Given the description of an element on the screen output the (x, y) to click on. 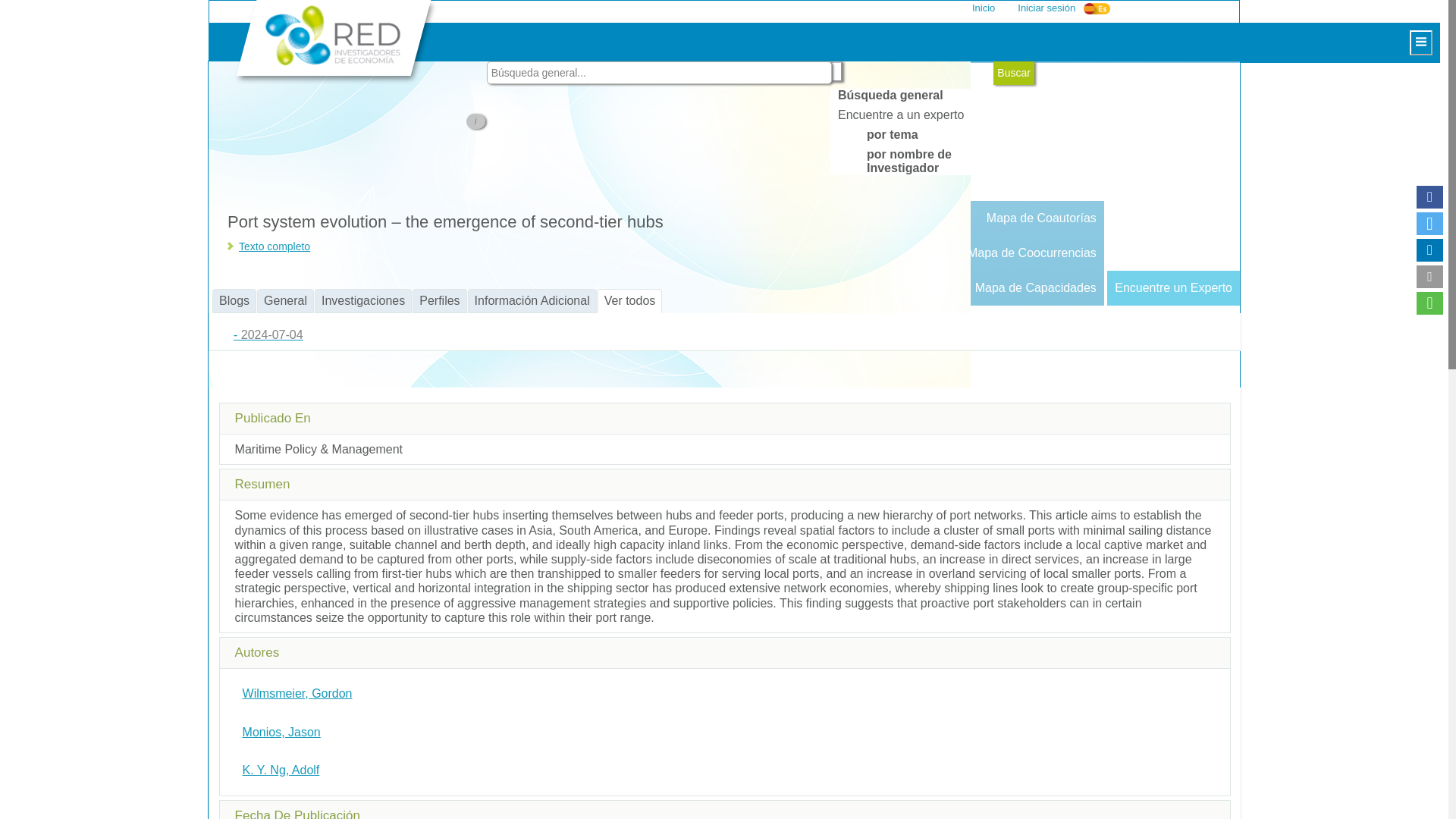
La Red (499, 43)
Miembros (601, 288)
Researcher (601, 288)
Nosotros (499, 78)
Blogs (499, 288)
Seminarios y eventos (499, 183)
Buscar (1012, 73)
user (1113, 8)
Buscar (1012, 73)
Nombre del autor (297, 693)
Noticias (499, 217)
texto del enlace (274, 246)
Cursos (499, 148)
Inicio (983, 7)
Proyectos (499, 113)
